Given the description of an element on the screen output the (x, y) to click on. 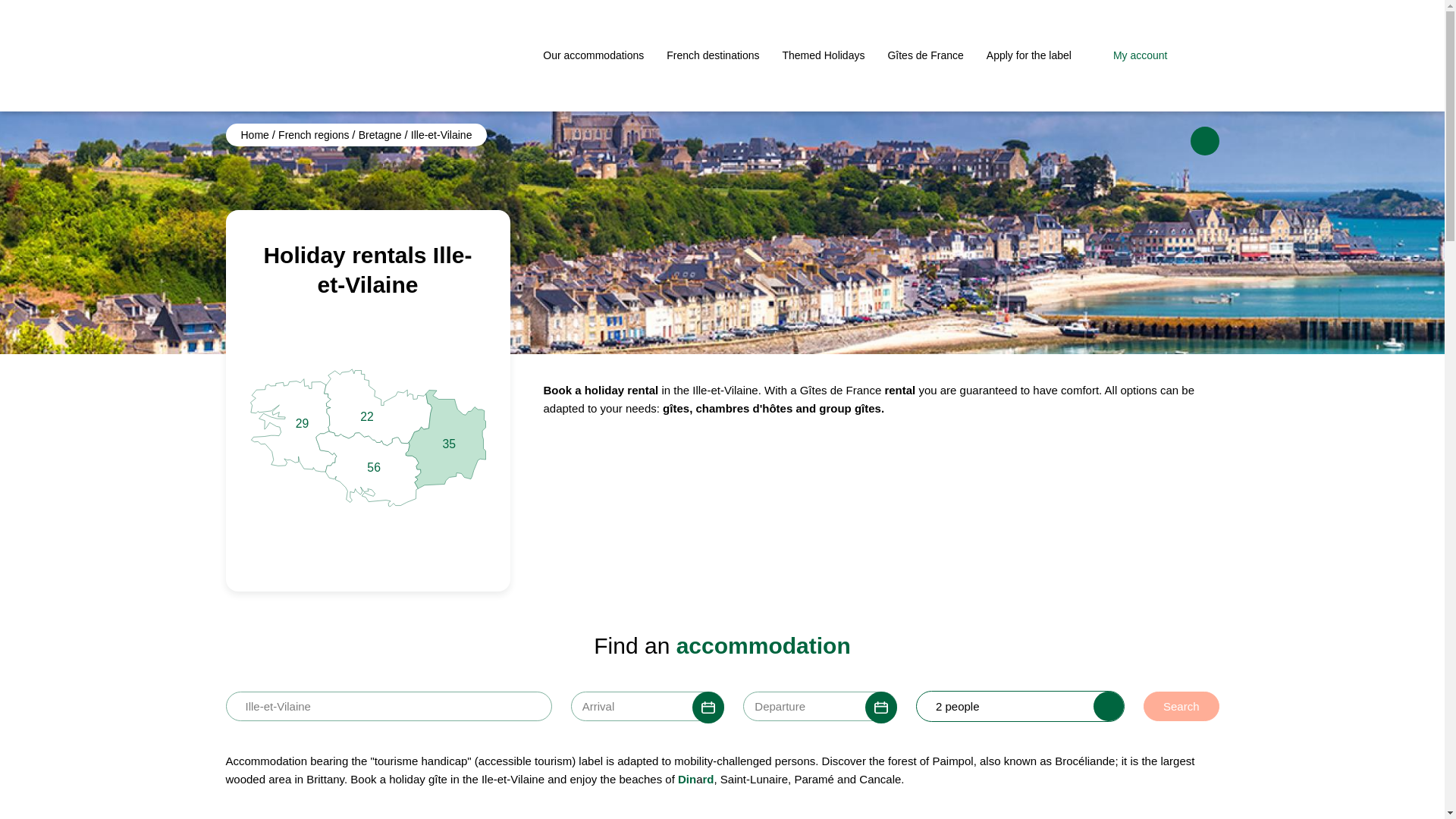
French regions (315, 134)
2 people (722, 706)
Obtenir le label (1029, 55)
Search (1181, 706)
Inspiration (924, 55)
Social share (1205, 140)
Skip to main content (366, 437)
Ille-et-Vilaine (256, 134)
